Given the description of an element on the screen output the (x, y) to click on. 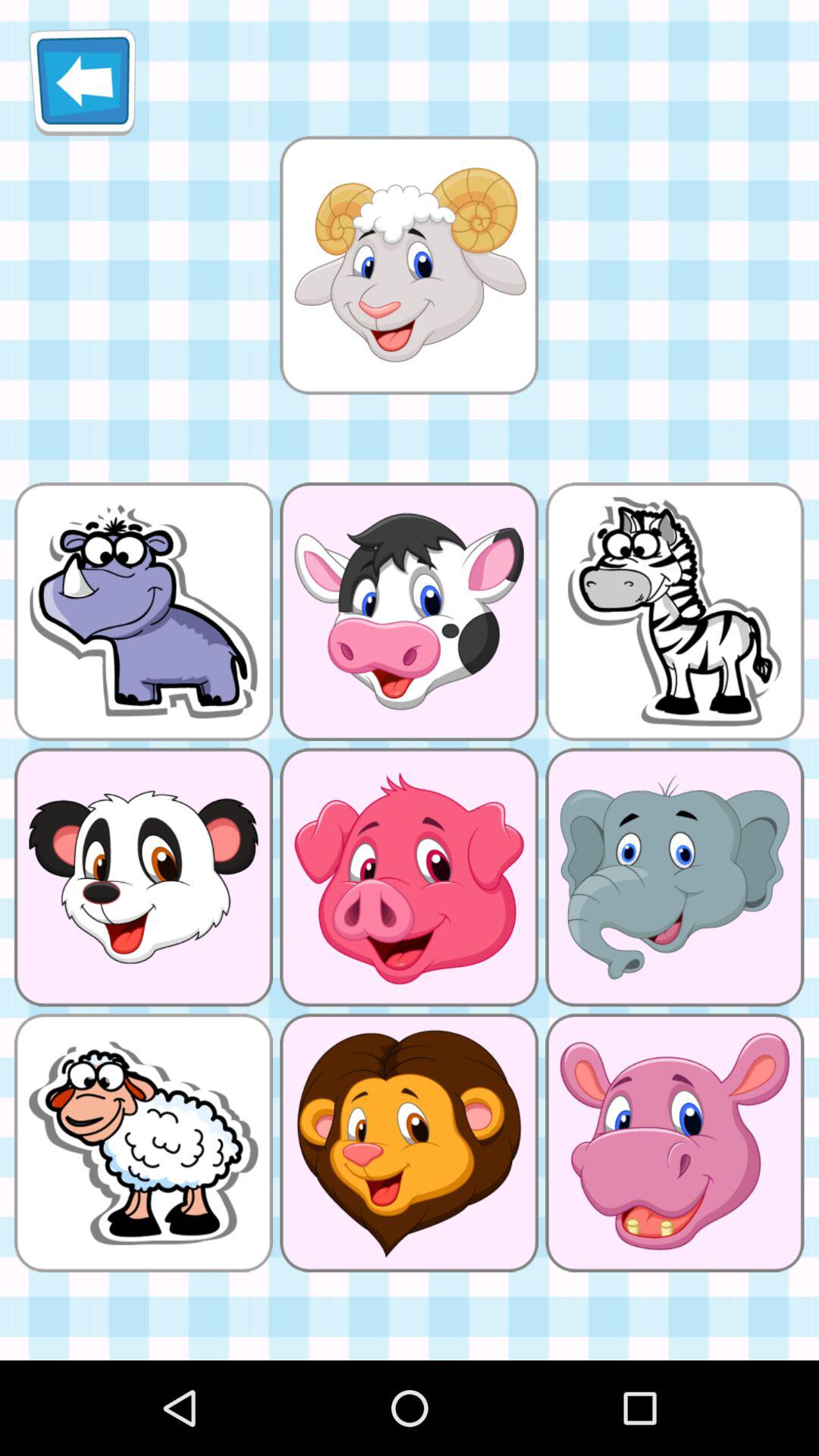
launch item at the top left corner (82, 82)
